Given the description of an element on the screen output the (x, y) to click on. 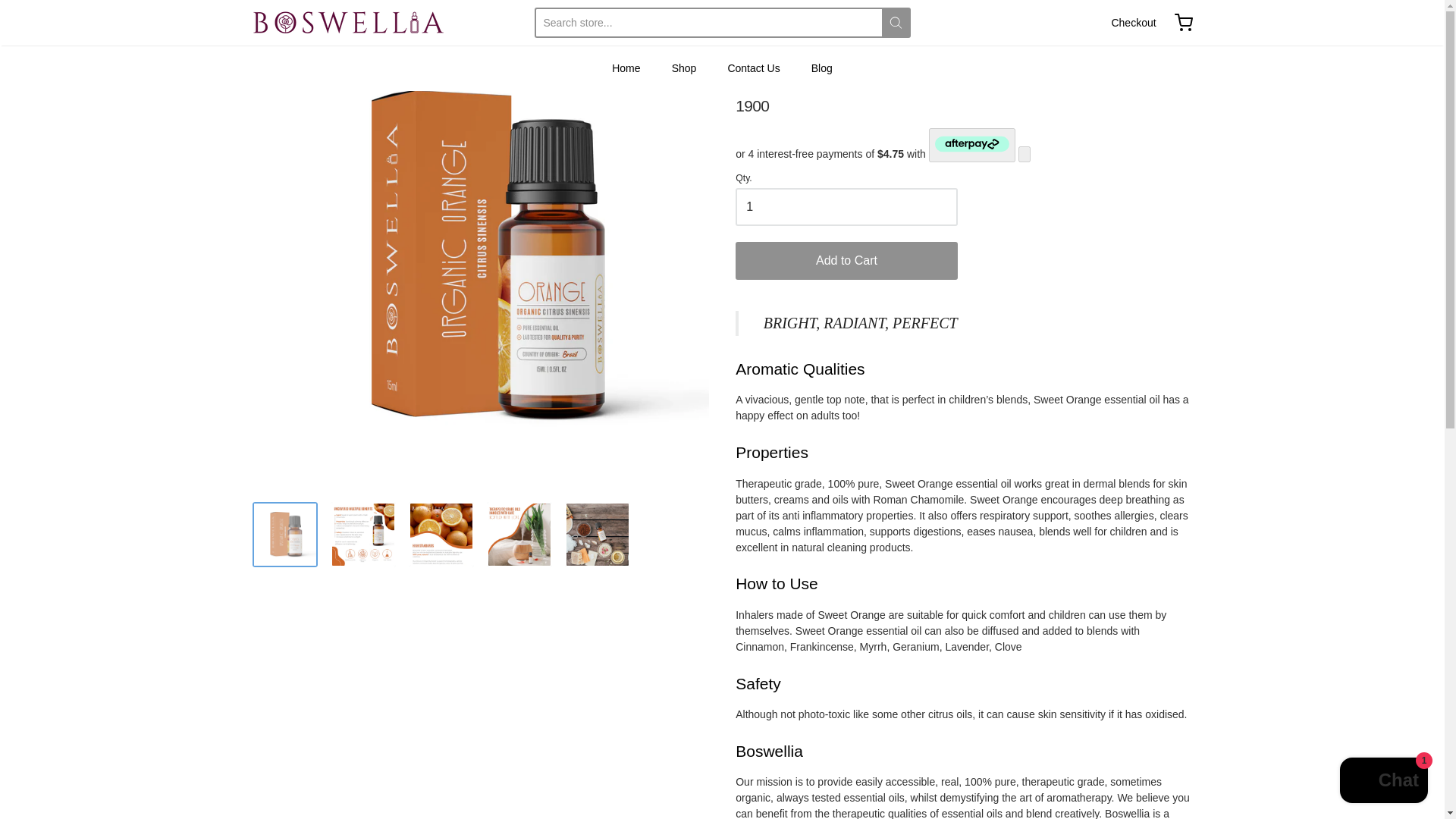
Boswellia Oils (347, 22)
Single Oils (306, 13)
Home (263, 13)
Orange Essential Oil - Organic (441, 534)
Single Oils (306, 13)
Checkout (1133, 22)
Orange Essential Oil - Organic (597, 534)
Blog (821, 67)
Contact Us (752, 67)
Orange Essential Oil - Organic (518, 534)
1 (846, 207)
Home (625, 67)
